Given the description of an element on the screen output the (x, y) to click on. 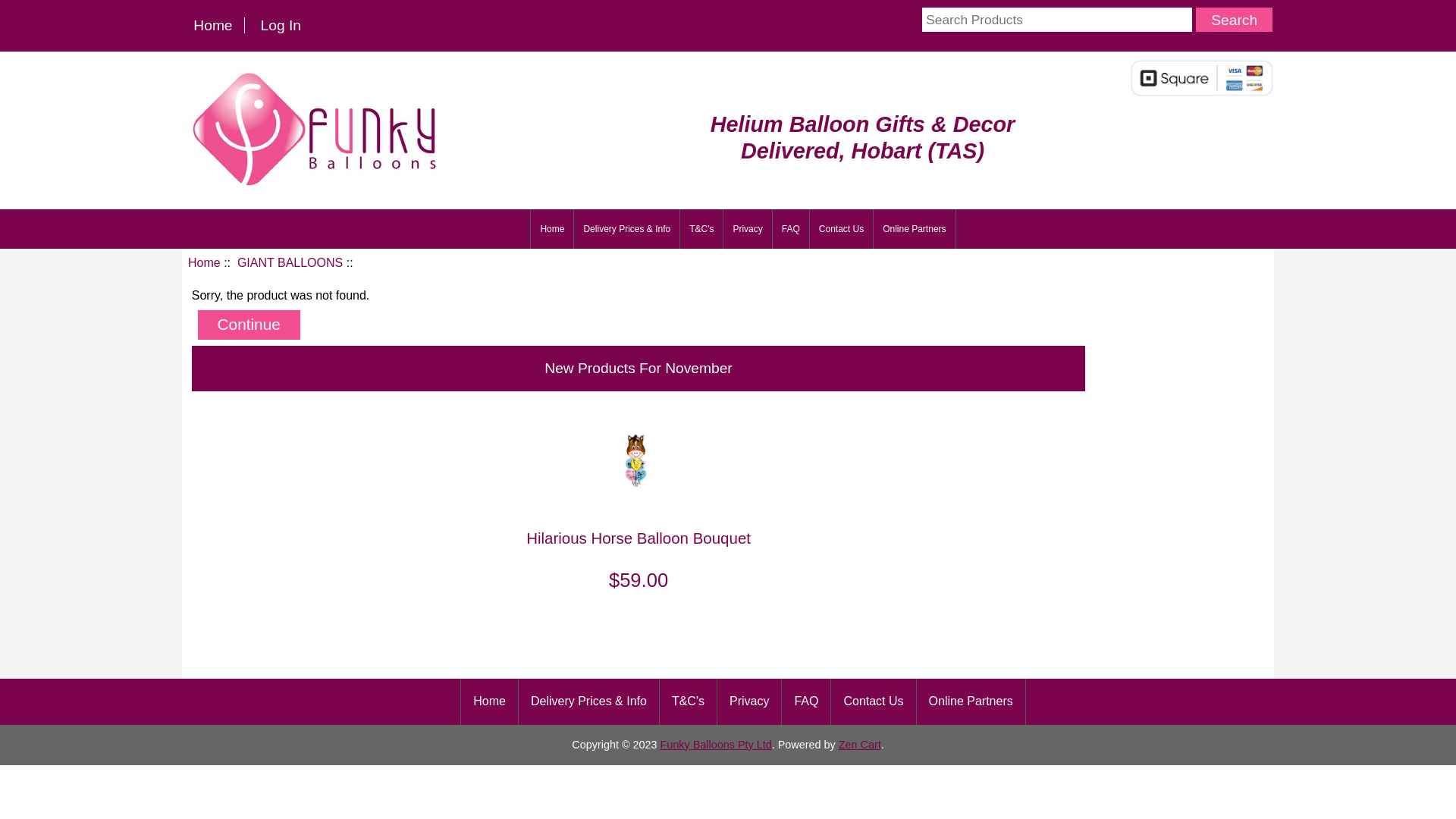
T&C's Element type: text (687, 701)
Funky Balloons Pty Ltd Element type: text (715, 744)
Zen Cart Element type: text (859, 744)
 Hilarious Horse Balloon Bouquet  Element type: hover (638, 464)
 Continue  Element type: text (248, 325)
Contact Us Element type: text (873, 701)
 Funky Balloons, Hobart (TAS) - Balloon Delivery Online  Element type: hover (316, 128)
Online Partners Element type: text (970, 701)
Home Element type: text (489, 701)
GIANT BALLOONS Element type: text (289, 262)
Home Element type: text (213, 25)
Home Element type: text (204, 262)
Search Element type: text (1233, 19)
Hilarious Horse Balloon Bouquet Element type: text (638, 538)
Delivery Prices & Info Element type: text (626, 228)
Delivery Prices & Info Element type: text (588, 701)
T&C's Element type: text (701, 228)
Home Element type: text (551, 228)
Online Partners Element type: text (913, 228)
Privacy Element type: text (747, 228)
FAQ Element type: text (805, 701)
Log In Element type: text (280, 25)
FAQ Element type: text (790, 228)
Contact Us Element type: text (840, 228)
Privacy Element type: text (749, 701)
